Given the description of an element on the screen output the (x, y) to click on. 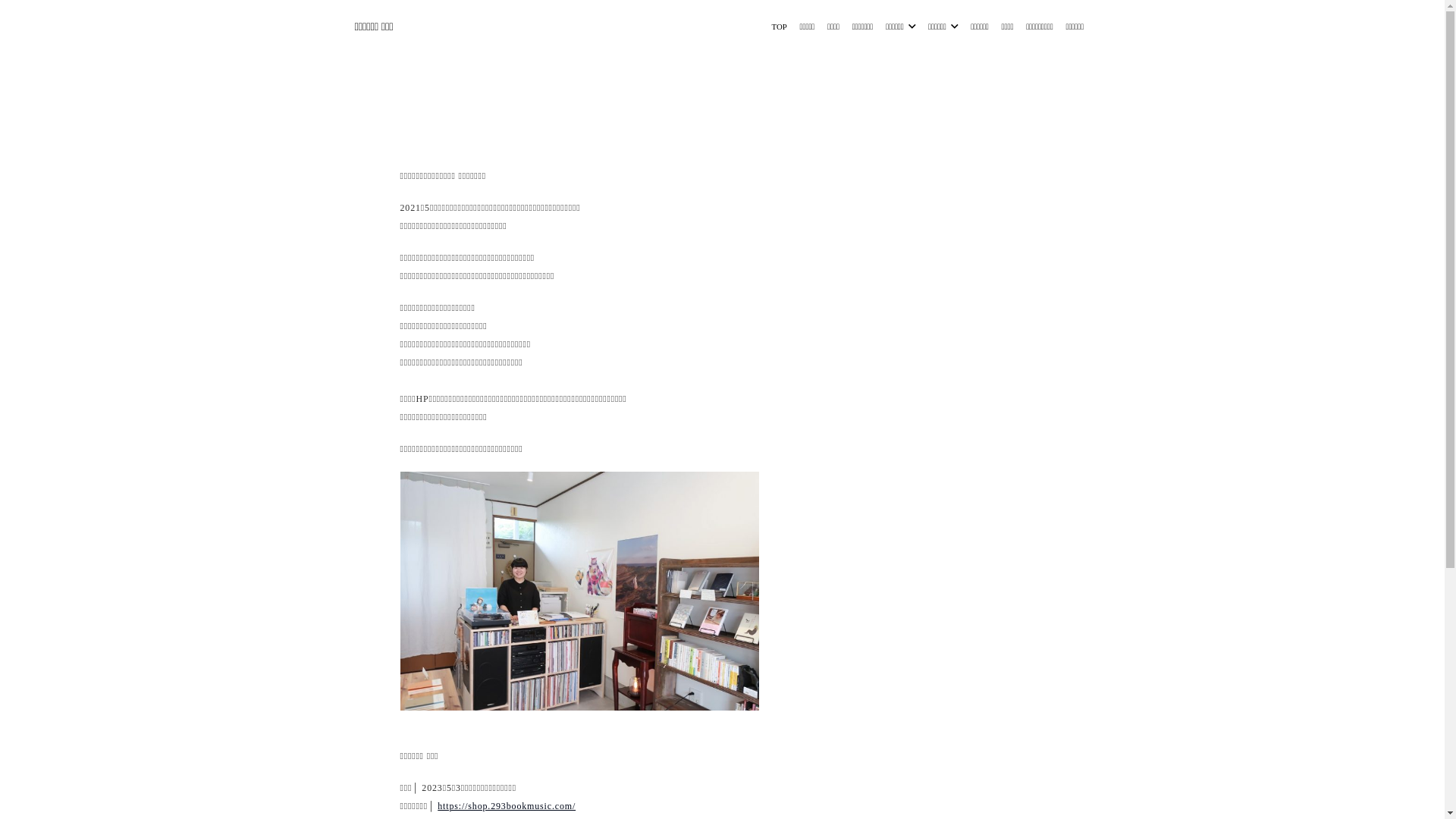
https://shop.293bookmusic.com/ Element type: text (506, 805)
TOP Element type: text (779, 26)
